Given the description of an element on the screen output the (x, y) to click on. 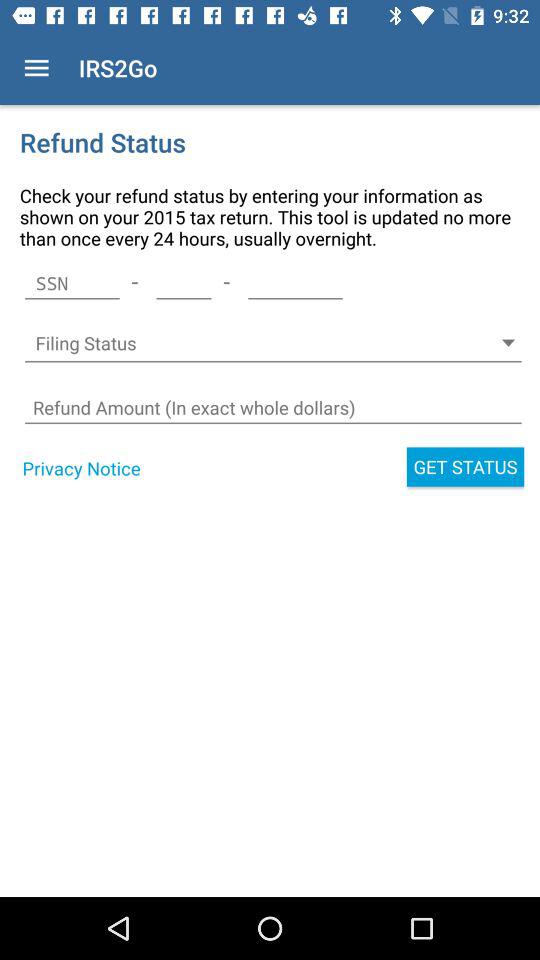
launch item next to irs2go app (36, 68)
